Given the description of an element on the screen output the (x, y) to click on. 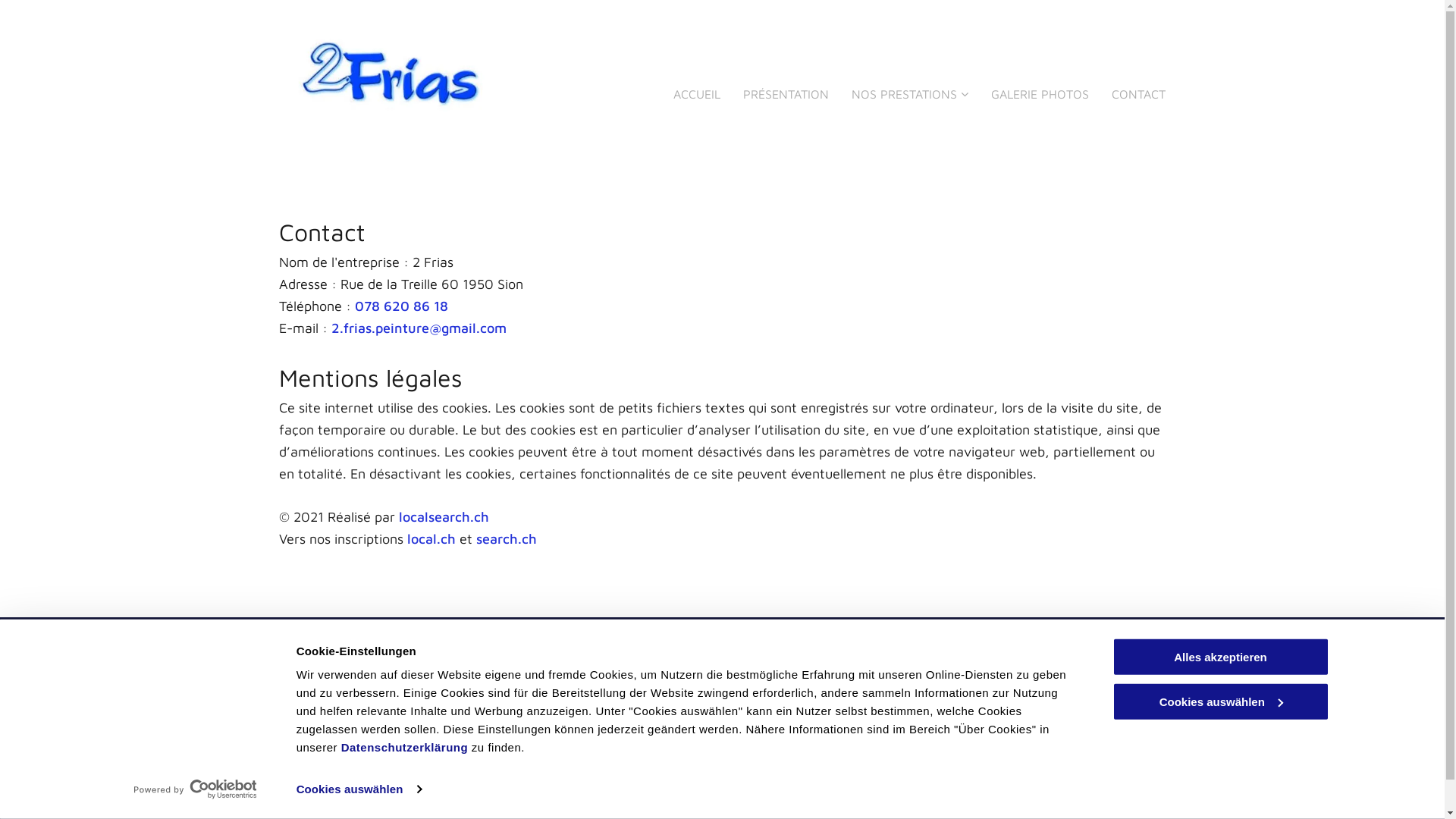
ACCUEIL Element type: text (696, 90)
Alles akzeptieren Element type: text (1219, 656)
2.frias.peinture@gmail.com Element type: text (586, 740)
NOS PRESTATIONS Element type: text (909, 90)
078 620 86 18 Element type: text (551, 682)
GALERIE PHOTOS Element type: text (1039, 90)
localsearch.ch Element type: text (443, 516)
078 708 48 64 Element type: text (552, 702)
local.ch Element type: text (430, 538)
search.ch Element type: text (506, 538)
2.frias.peinture@gmail.com Element type: text (417, 327)
CONTACT Element type: text (1138, 90)
078 620 86 18 Element type: text (401, 305)
